Given the description of an element on the screen output the (x, y) to click on. 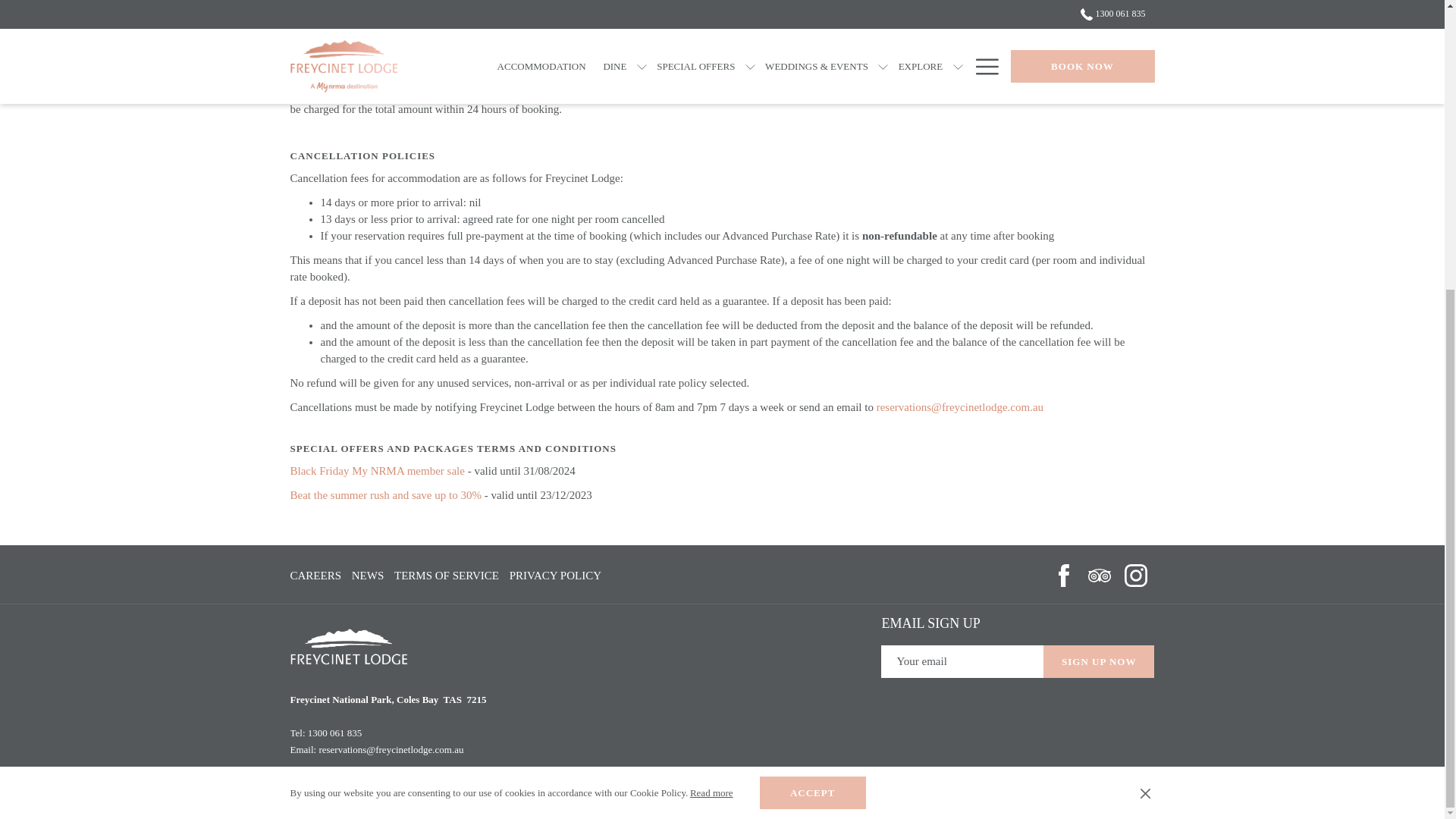
ACCEPT (813, 352)
